Given the description of an element on the screen output the (x, y) to click on. 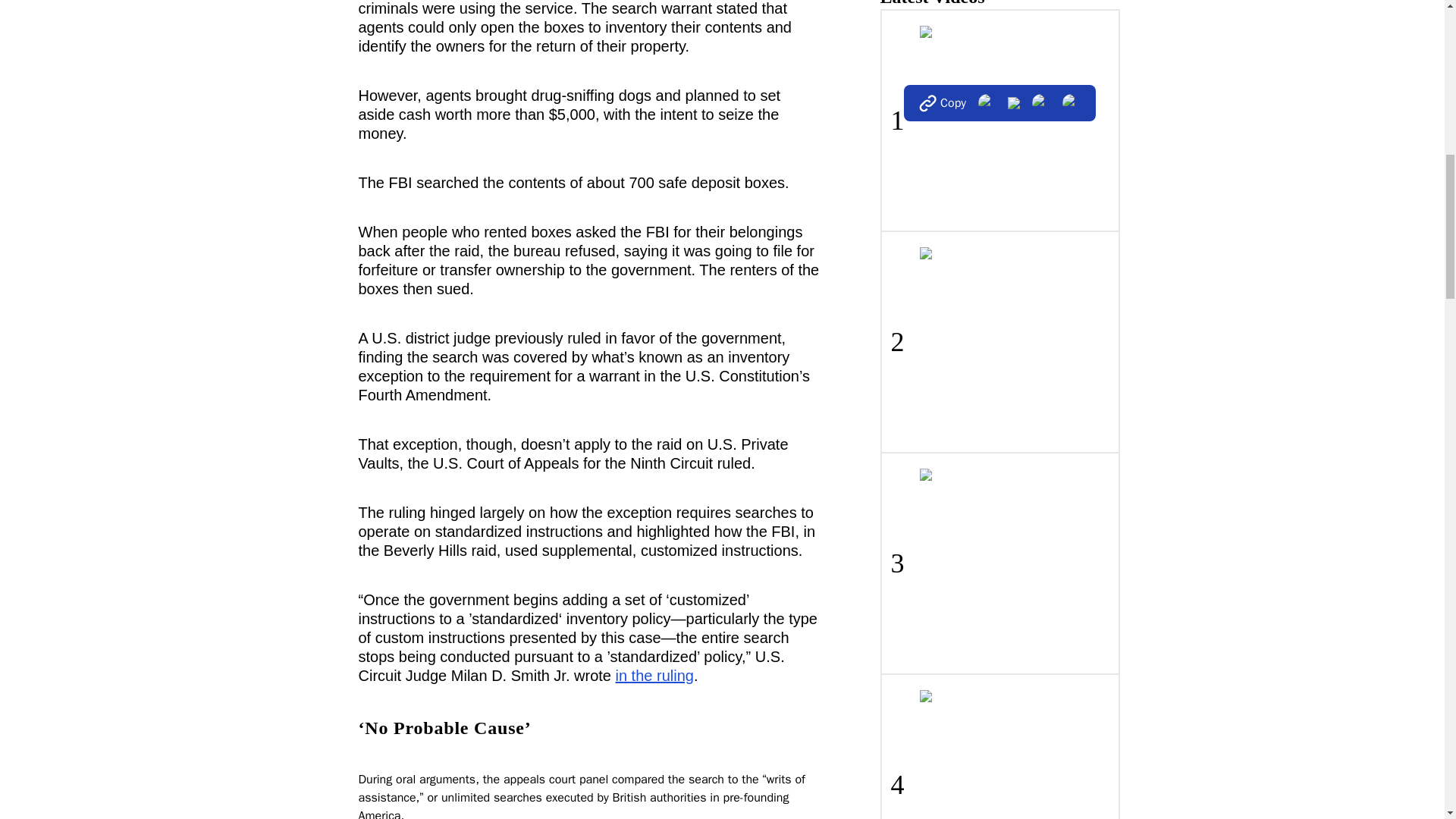
in the ruling (654, 675)
1 (999, 120)
4 (999, 746)
3 (999, 562)
2 (999, 341)
